Given the description of an element on the screen output the (x, y) to click on. 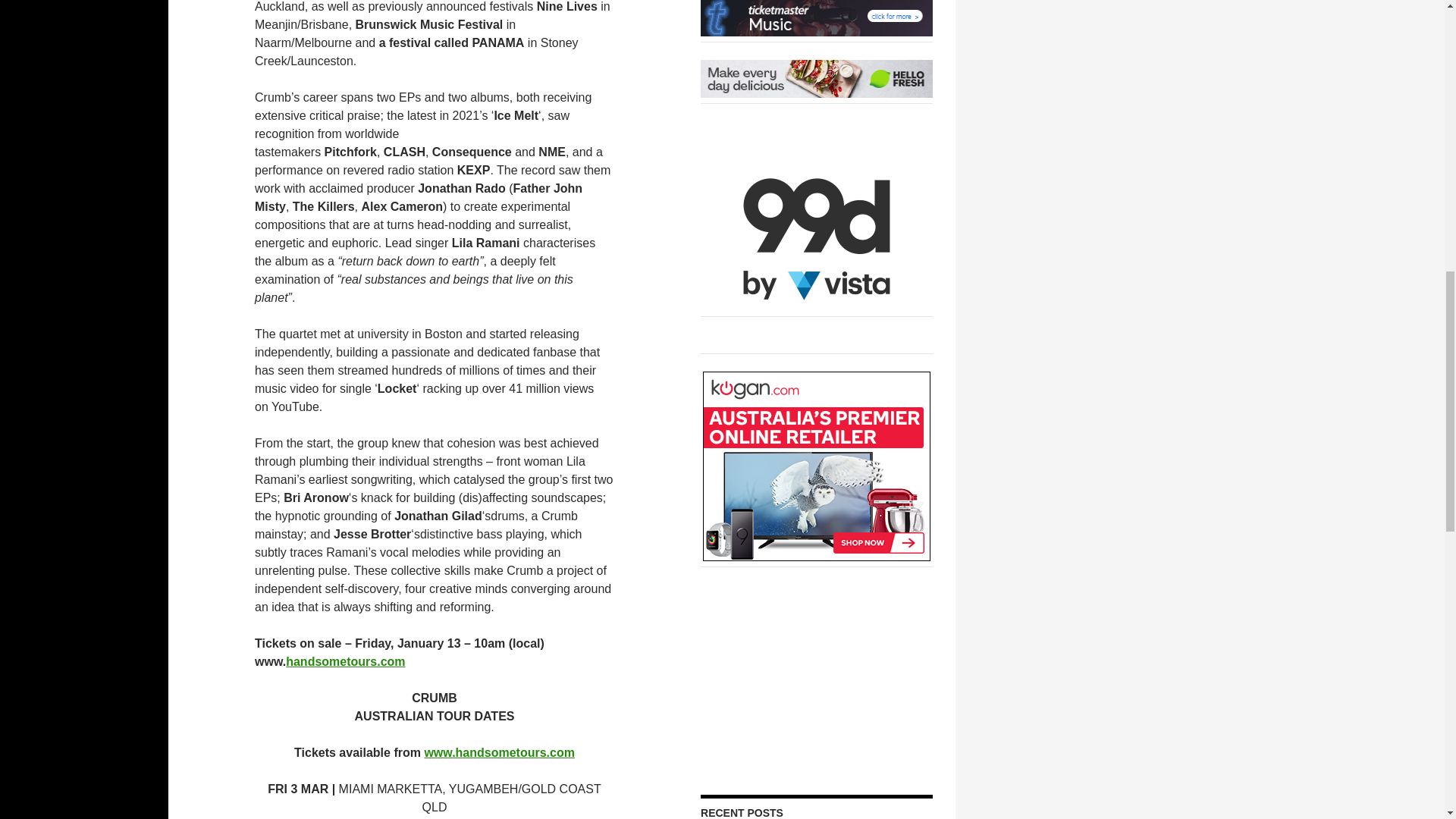
www.handsometours.com (499, 752)
handsometours.com (344, 661)
